Given the description of an element on the screen output the (x, y) to click on. 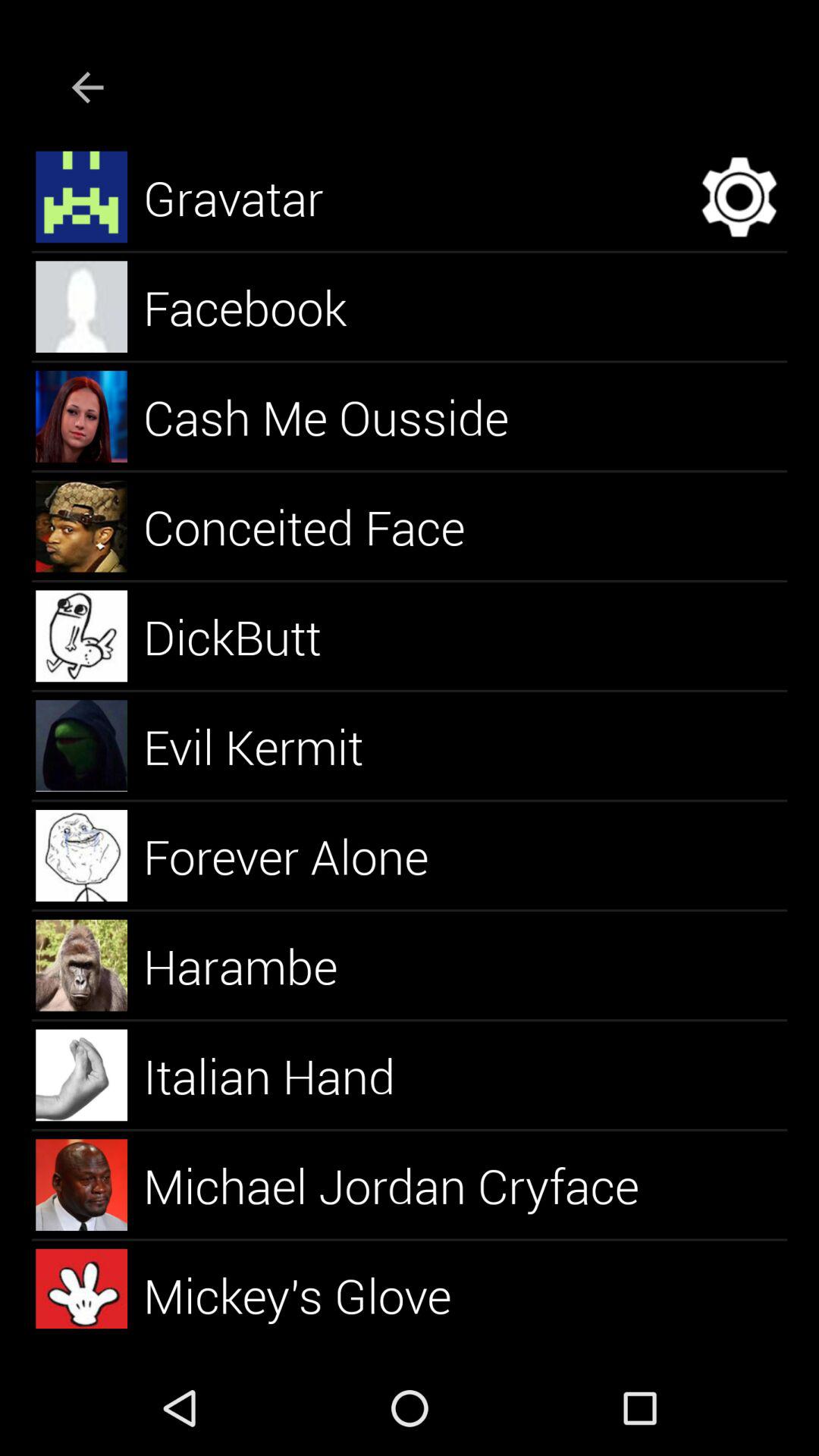
launch the conceited face (321, 525)
